Given the description of an element on the screen output the (x, y) to click on. 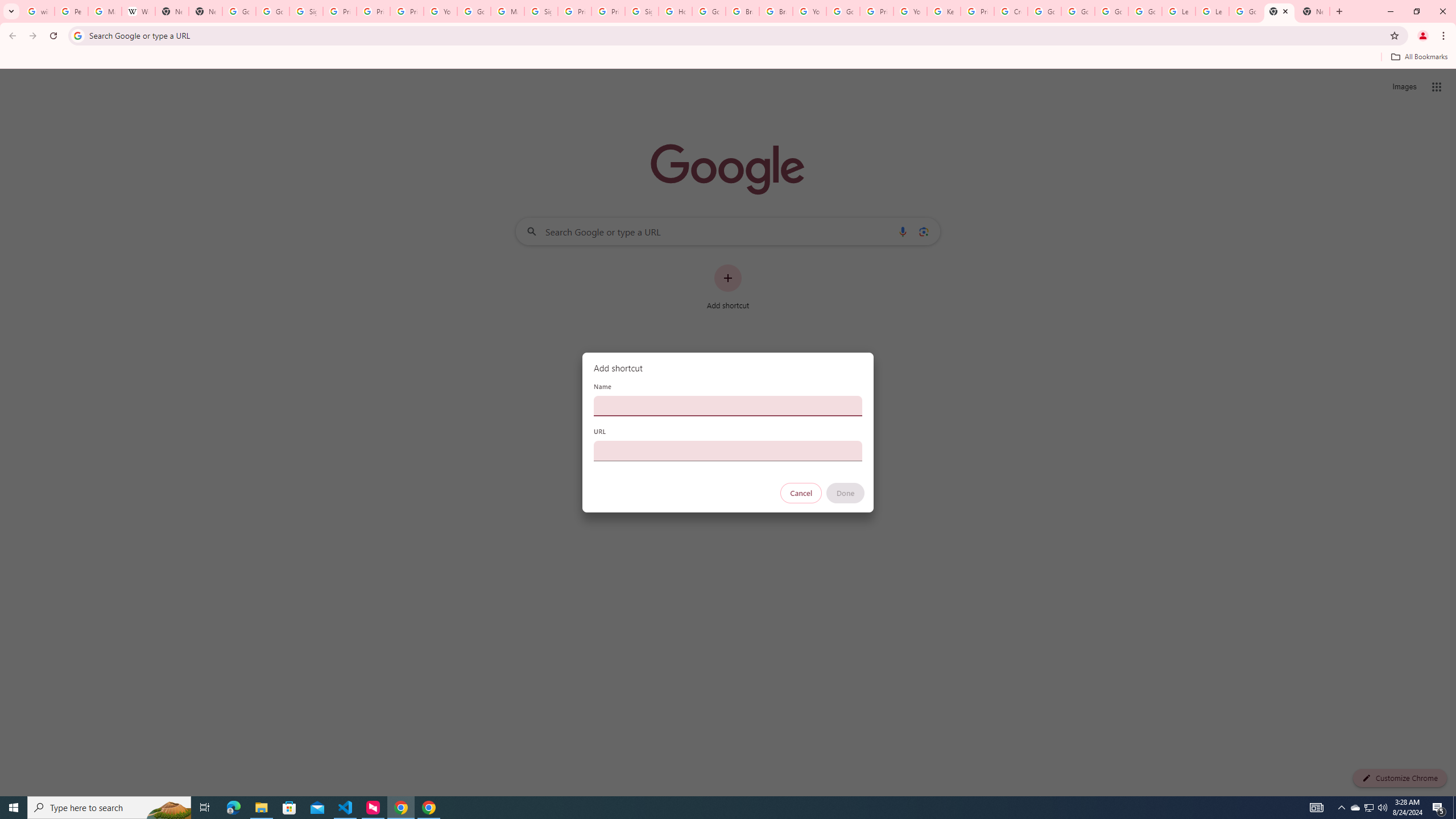
Manage your Location History - Google Search Help (104, 11)
Google Account Help (1043, 11)
YouTube (441, 11)
YouTube (809, 11)
Sign in - Google Accounts (641, 11)
Google Account (1246, 11)
URL (727, 450)
New Tab (1279, 11)
Google Drive: Sign-in (272, 11)
